Given the description of an element on the screen output the (x, y) to click on. 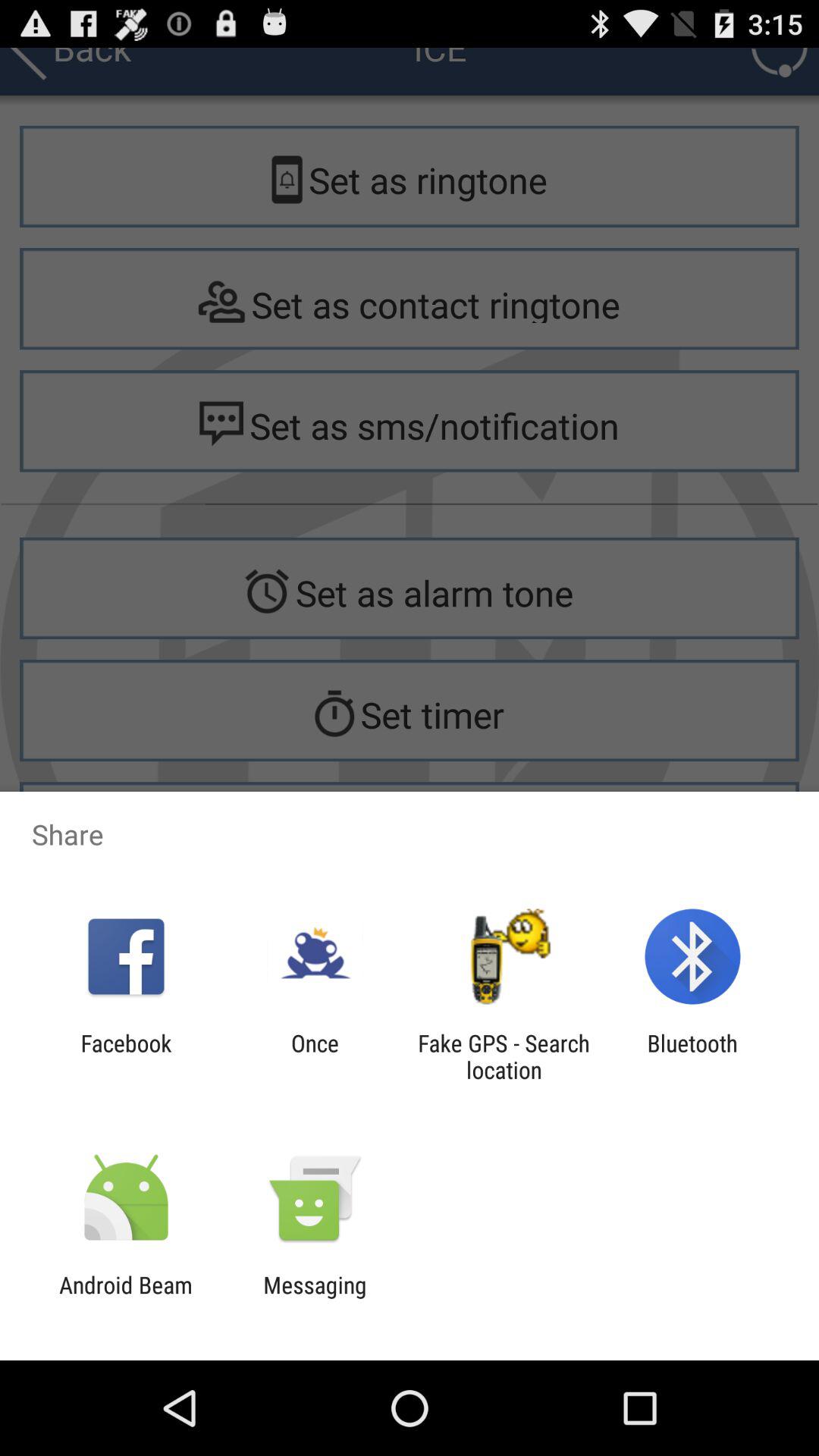
click the app next to the messaging item (125, 1298)
